Given the description of an element on the screen output the (x, y) to click on. 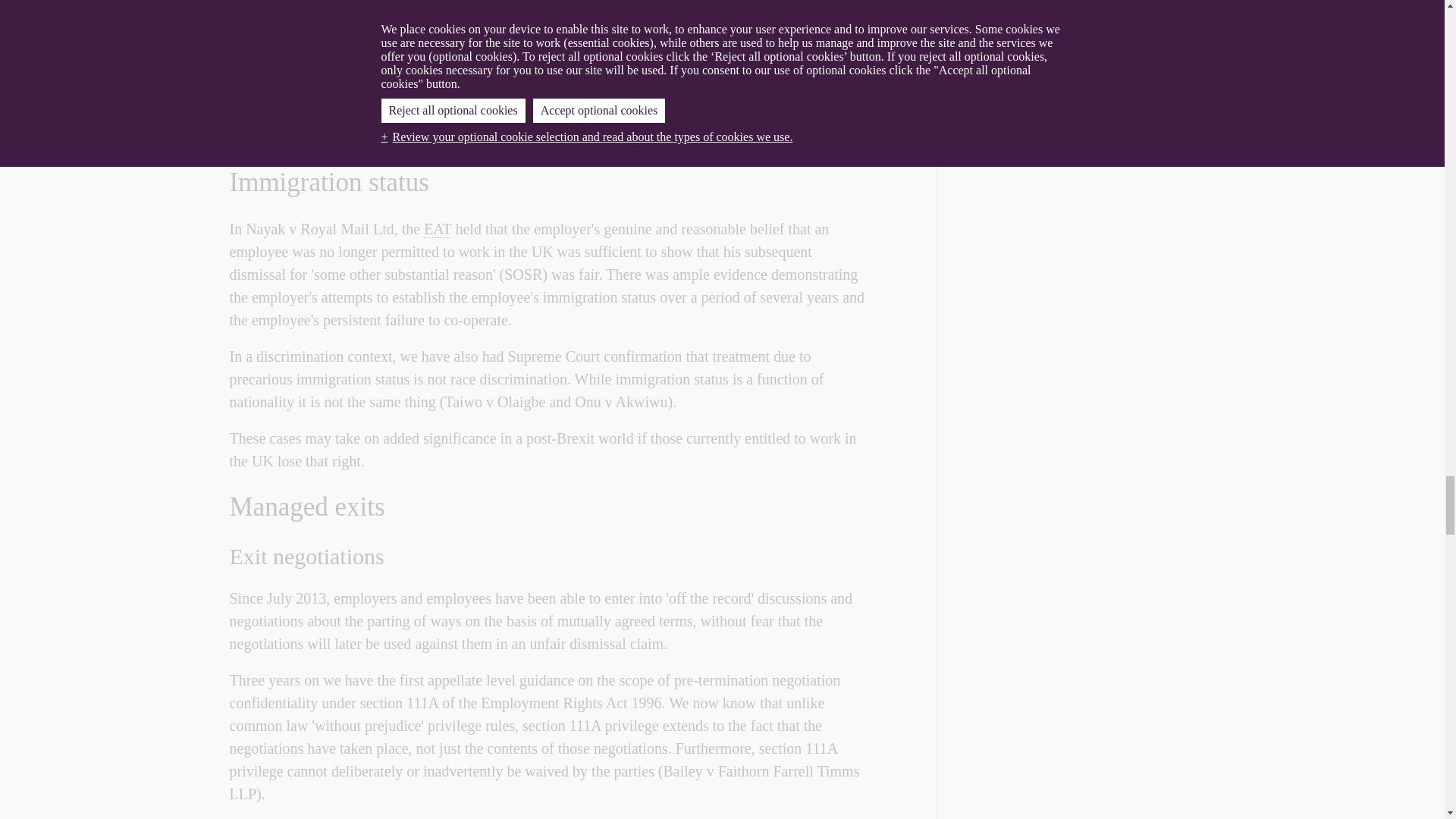
Employment Appeal Tribunal (437, 229)
